Given the description of an element on the screen output the (x, y) to click on. 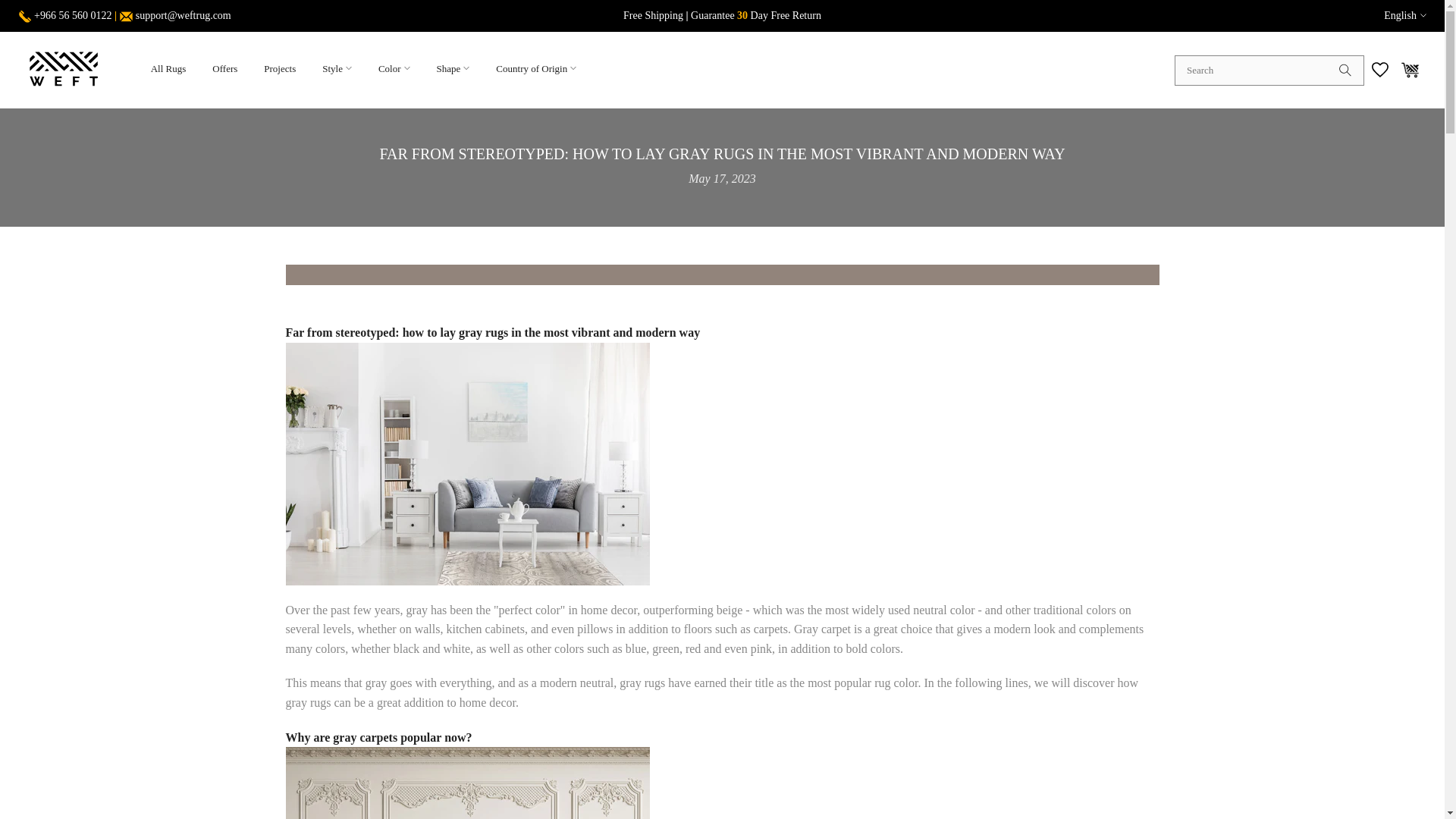
Skip To Text (10, 7)
Country of Origin (536, 69)
English (1405, 15)
